Given the description of an element on the screen output the (x, y) to click on. 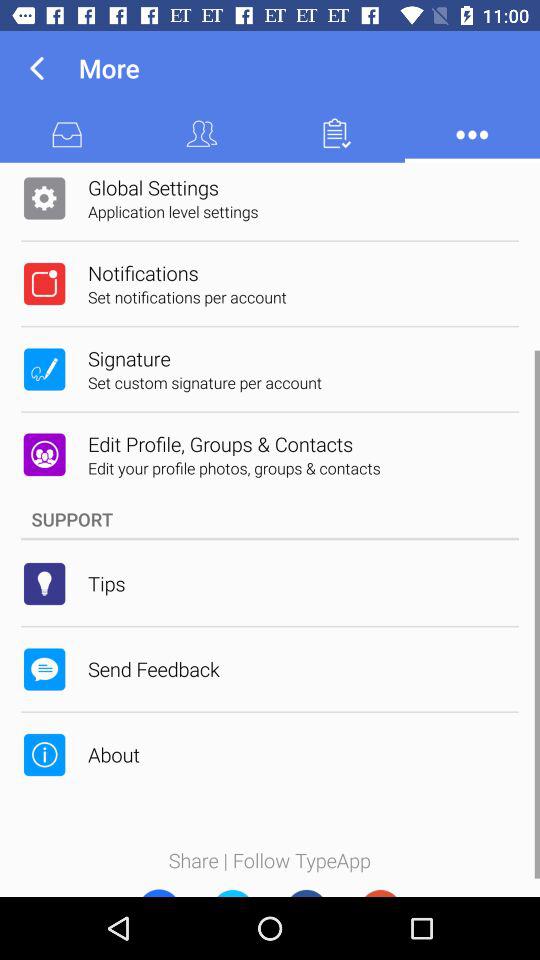
swipe until the about (113, 754)
